Given the description of an element on the screen output the (x, y) to click on. 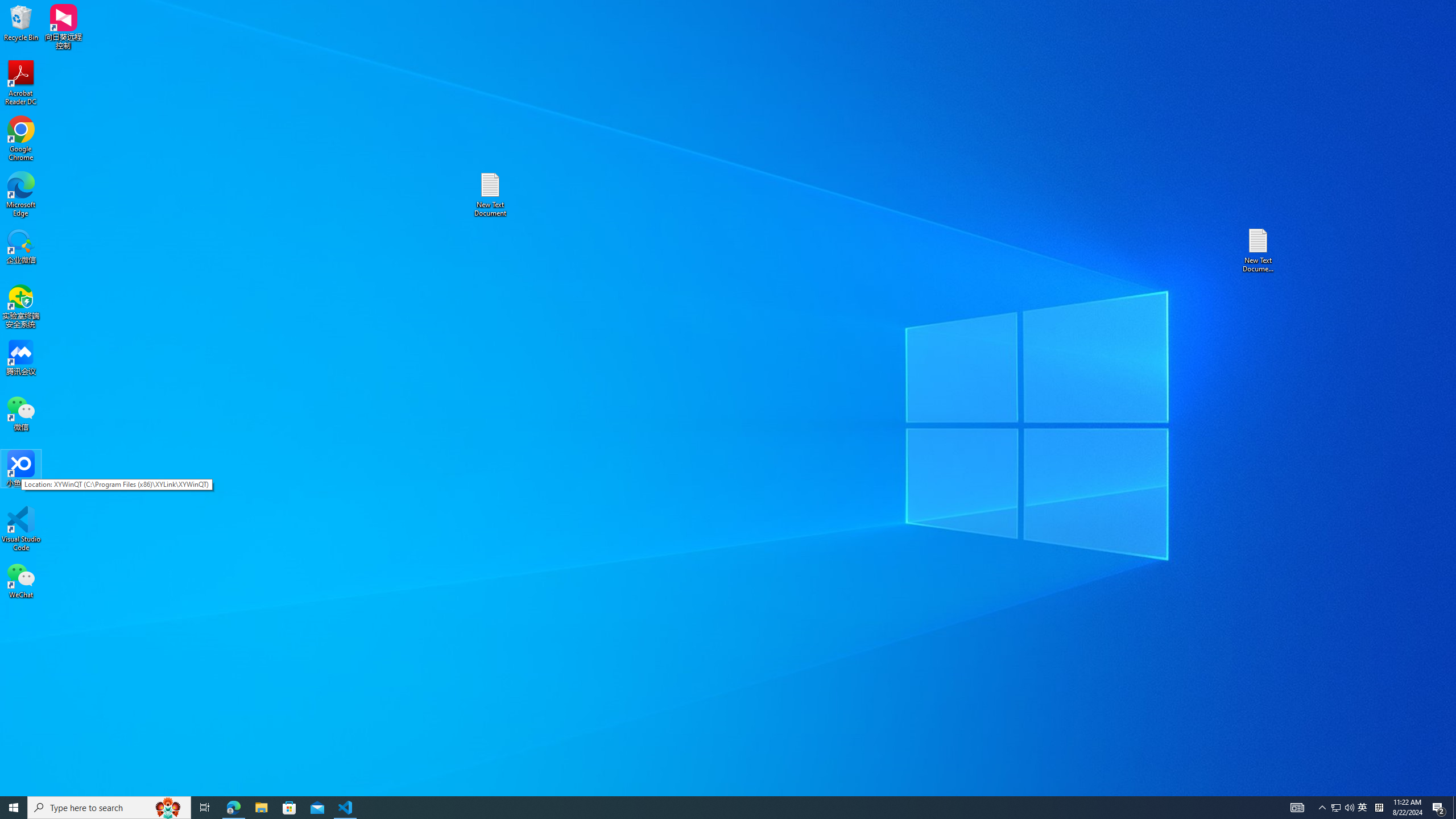
Type here to search (108, 807)
Show desktop (1362, 807)
